Given the description of an element on the screen output the (x, y) to click on. 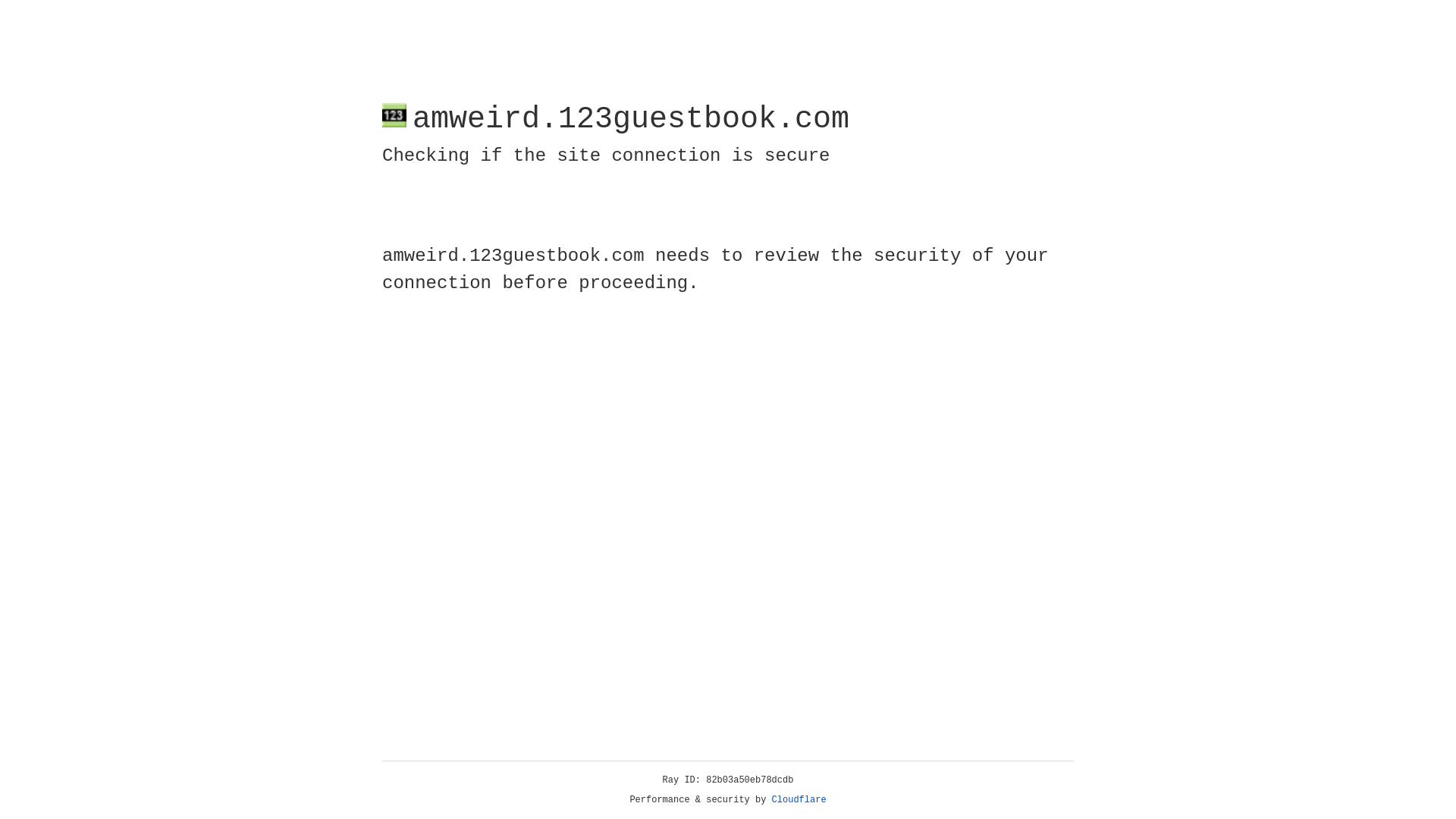
Cloudflare Element type: text (798, 799)
